Given the description of an element on the screen output the (x, y) to click on. 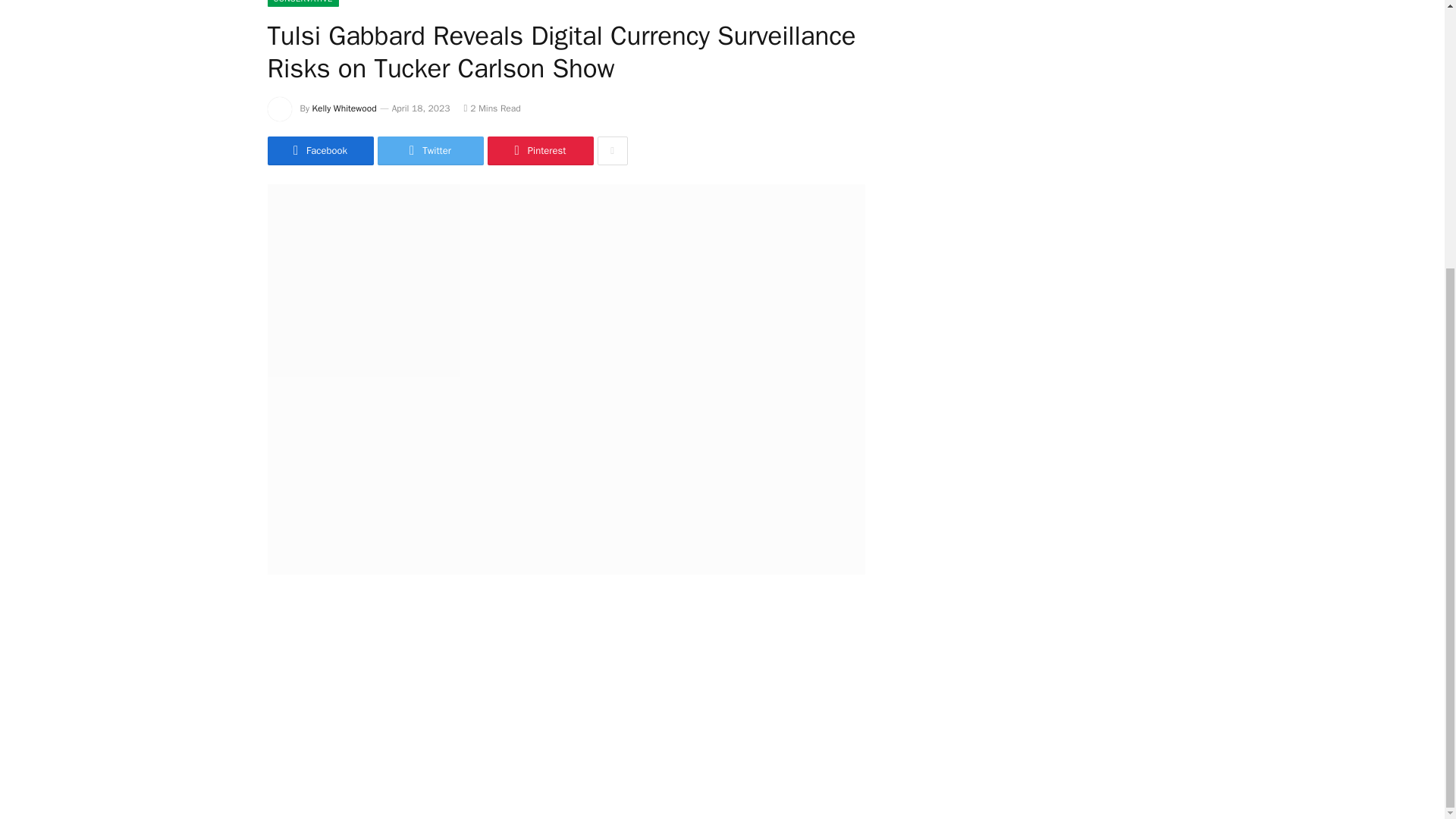
Share on Facebook (319, 150)
Show More Social Sharing (611, 150)
Pinterest (539, 150)
Share on Pinterest (539, 150)
Facebook (319, 150)
Posts by Kelly Whitewood (345, 108)
Twitter (430, 150)
Kelly Whitewood (345, 108)
CONSERVATIVE (301, 3)
